Given the description of an element on the screen output the (x, y) to click on. 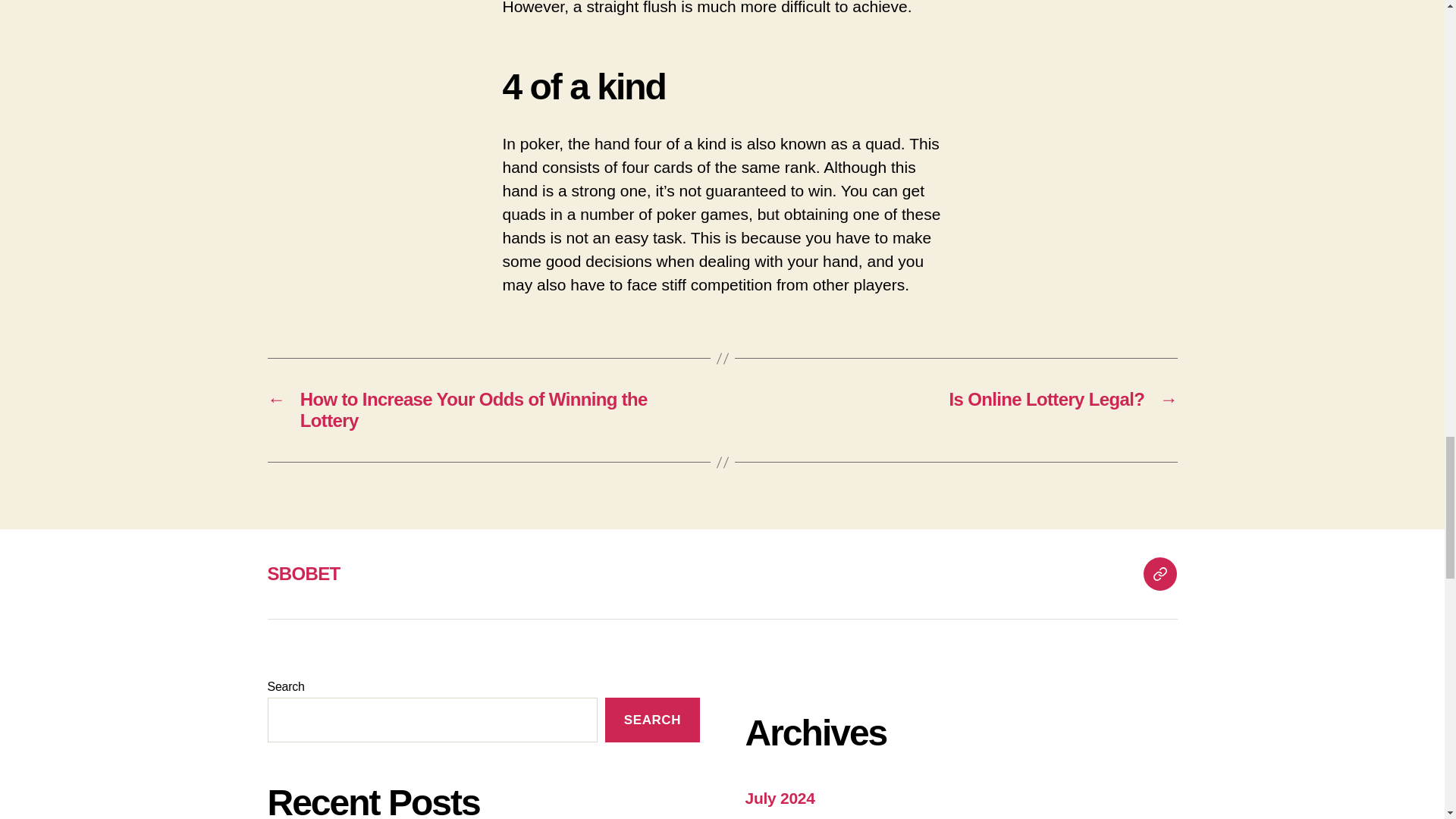
SBOBET (302, 573)
SBOBET (1159, 573)
SEARCH (651, 719)
July 2024 (778, 797)
